Given the description of an element on the screen output the (x, y) to click on. 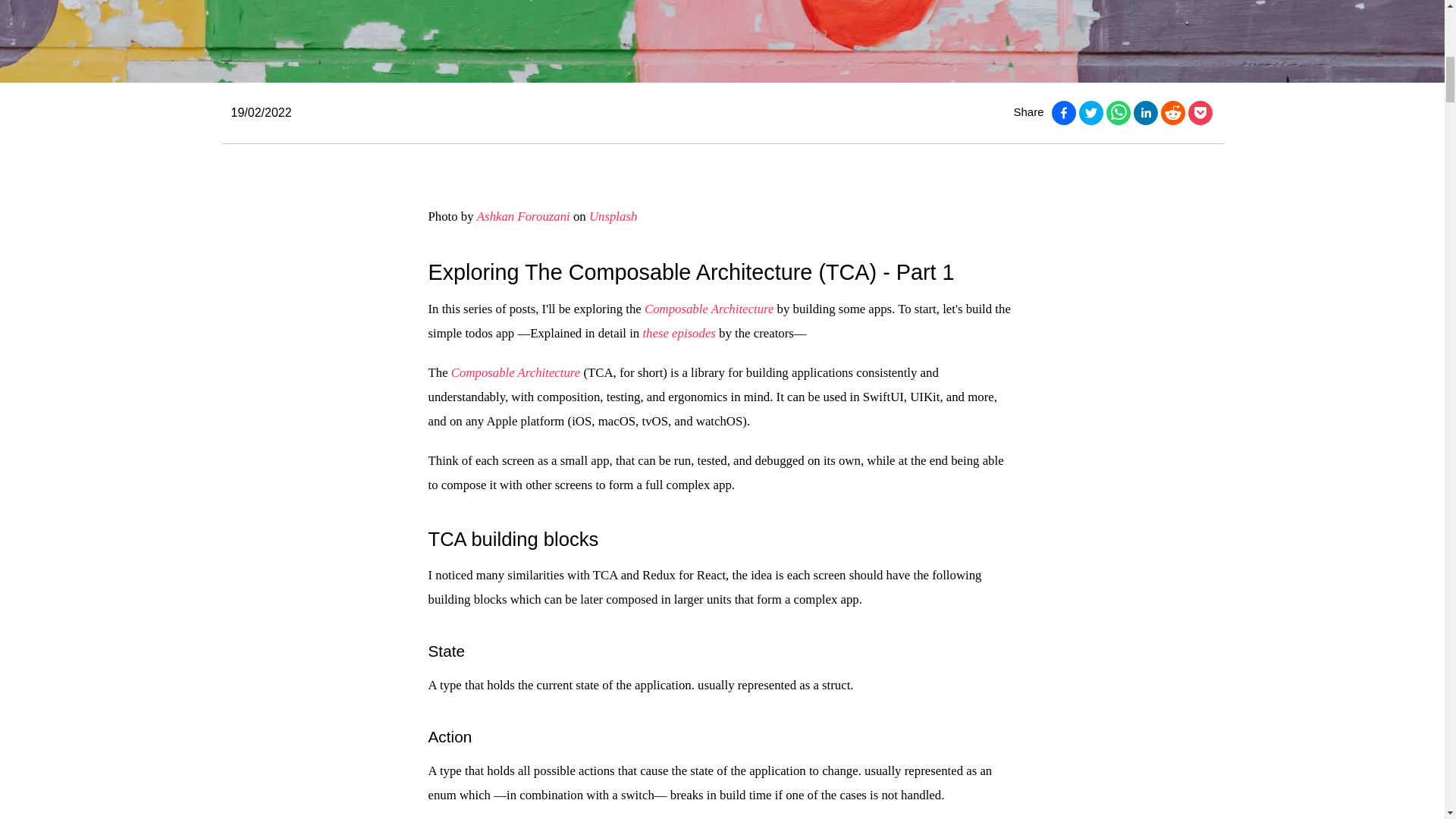
Composable Architecture (515, 372)
Ashkan Forouzani (523, 216)
Unsplash (613, 216)
these episodes (678, 332)
Composable Architecture (709, 309)
